Given the description of an element on the screen output the (x, y) to click on. 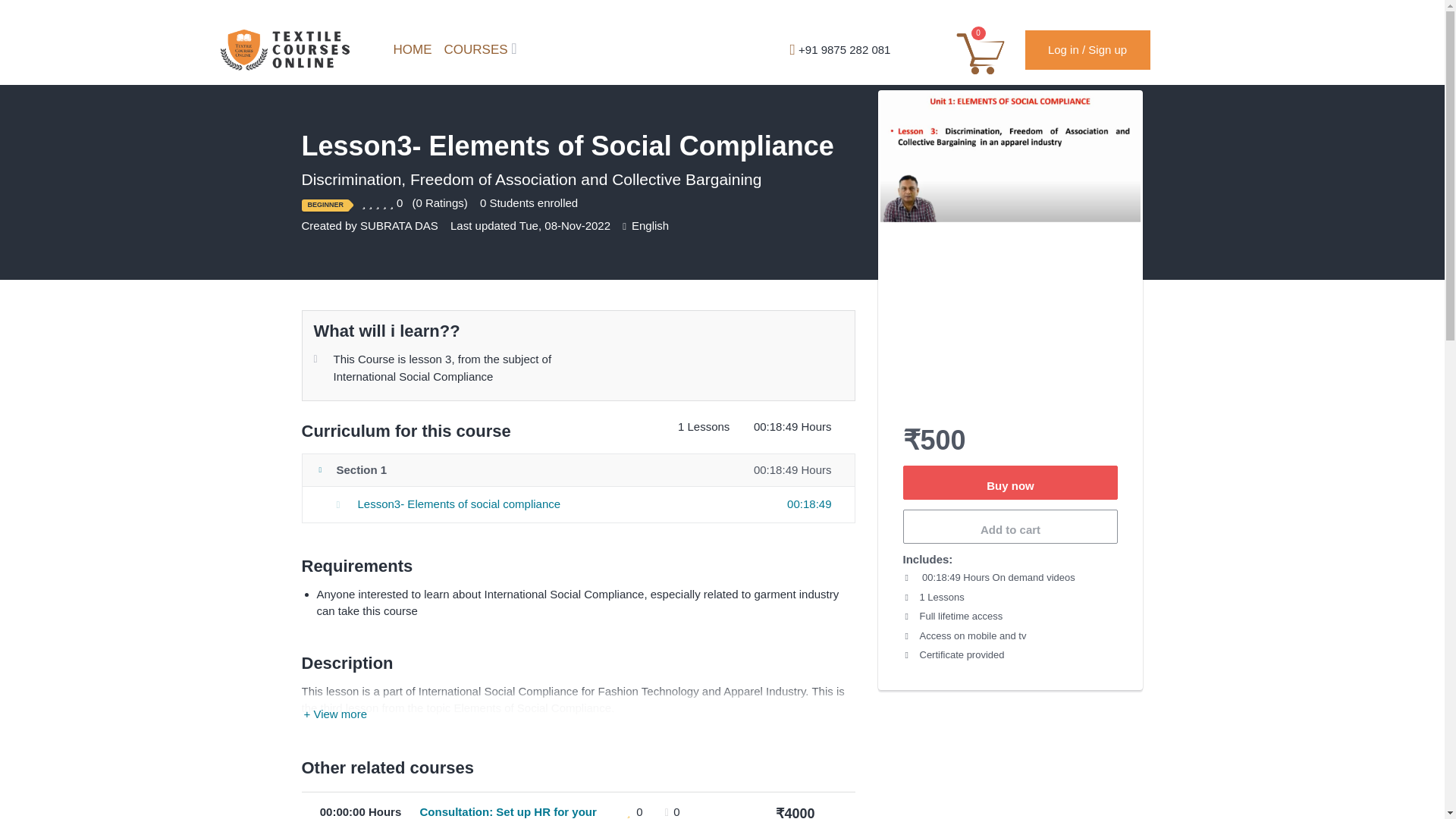
COURSES (477, 49)
HOME (406, 49)
